Given the description of an element on the screen output the (x, y) to click on. 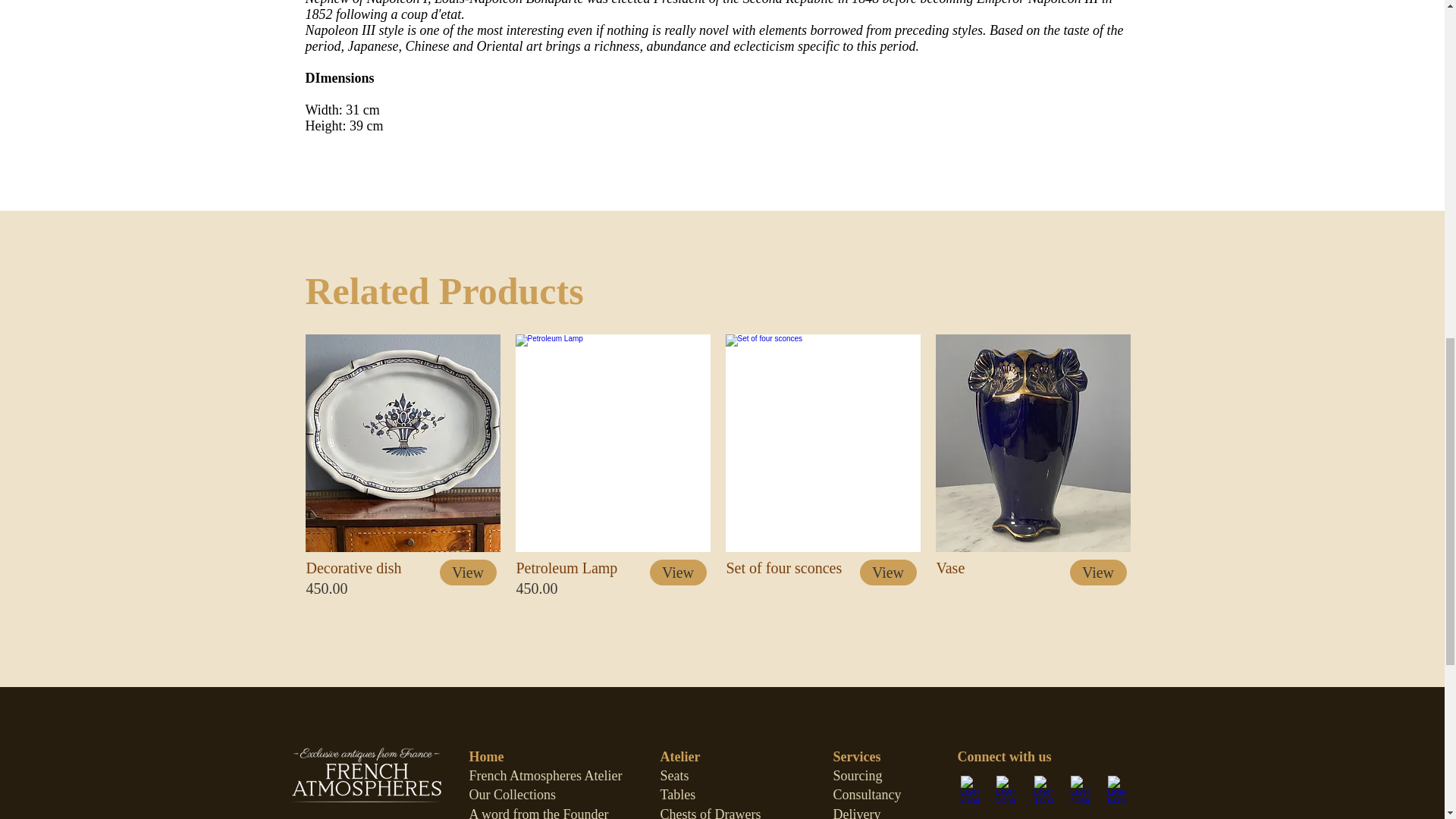
View (888, 572)
View (467, 572)
Petroleum Lamp (612, 443)
Home (485, 756)
Vase (1033, 443)
View (1096, 572)
French Atmospheres Atelier (544, 775)
Set of four sconces (822, 443)
Decorative dish (401, 443)
View (677, 572)
